Given the description of an element on the screen output the (x, y) to click on. 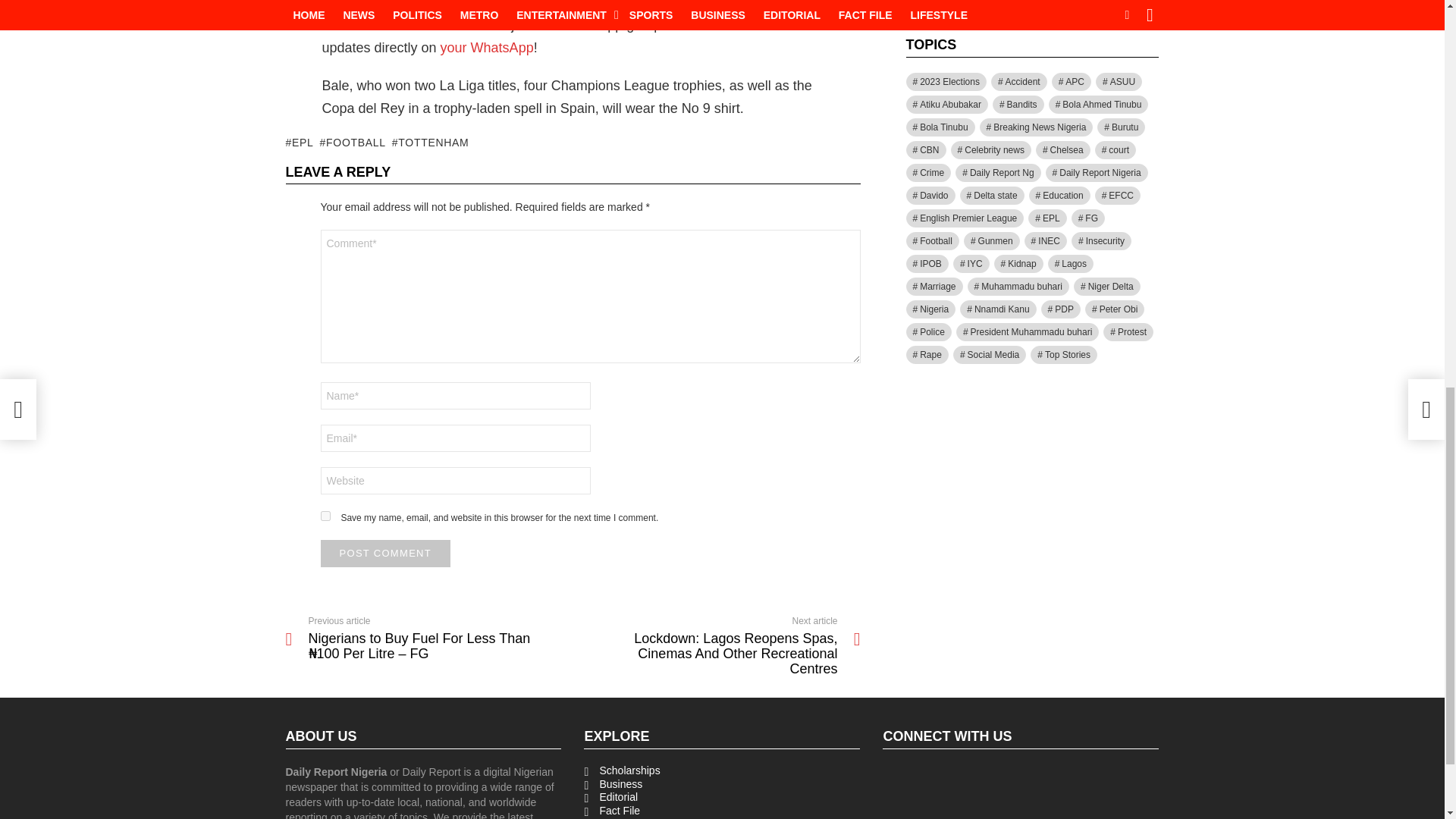
Post Comment (384, 553)
yes (325, 515)
